Given the description of an element on the screen output the (x, y) to click on. 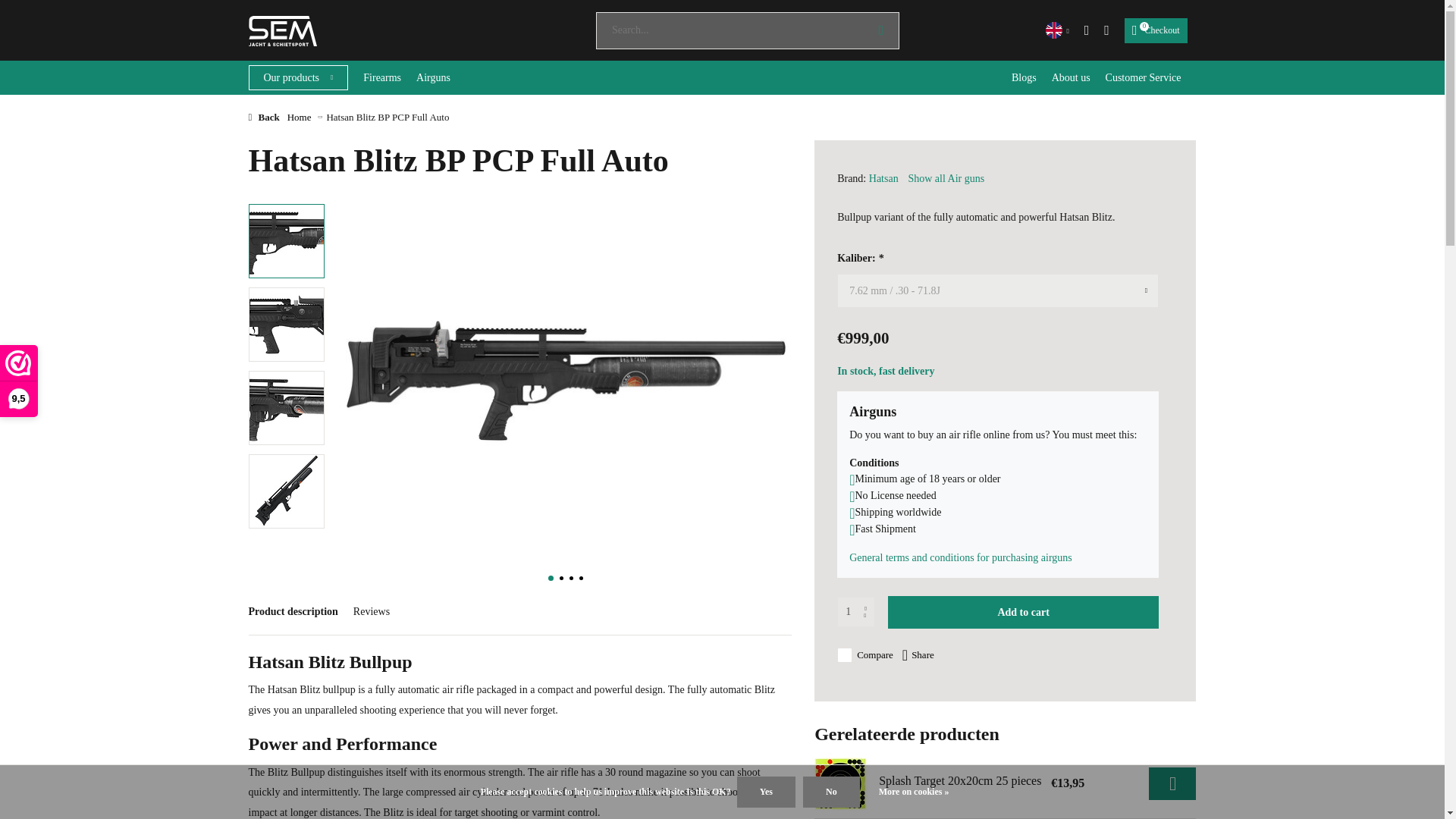
Hatsan Hatsan Blitz BP PCP Full Auto (285, 407)
Hatsan Hatsan Blitz BP PCP Full Auto (285, 240)
Blogs (1156, 30)
Customer Service (1023, 77)
1 (1142, 77)
Firearms (856, 612)
About us (381, 77)
Airguns (1070, 77)
Hatsan Hatsan Blitz BP PCP Full Auto (432, 77)
Search (285, 324)
Hatsan Hatsan Blitz BP PCP Full Auto (880, 29)
